Given the description of an element on the screen output the (x, y) to click on. 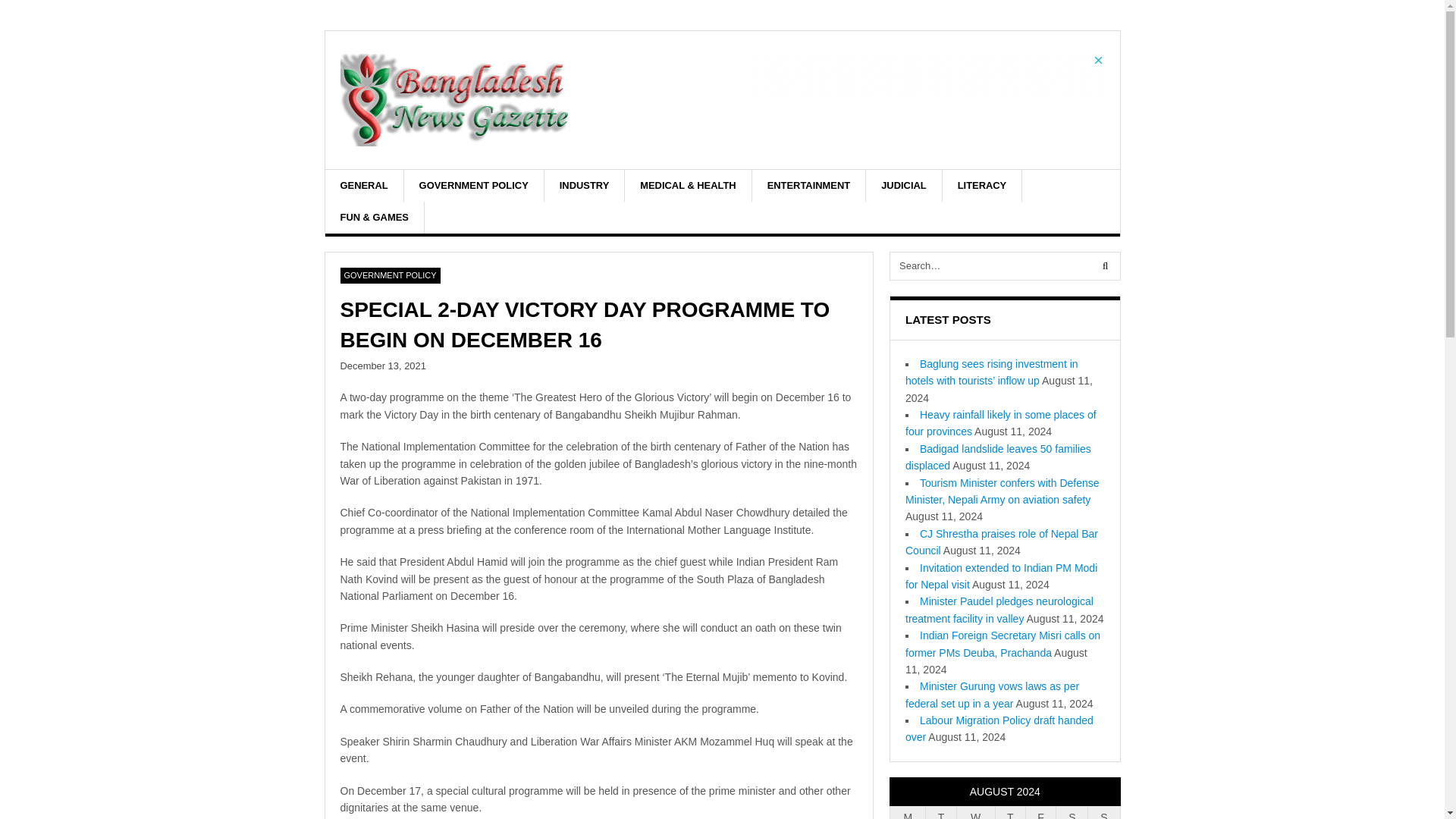
Heavy rainfall likely in some places of four provinces (1000, 422)
INDUSTRY (585, 185)
Monday (907, 812)
GENERAL (363, 185)
Government Policy (389, 275)
Minister Gurung vows laws as per federal set up in a year (991, 694)
Thursday (1009, 812)
GOVERNMENT POLICY (474, 185)
CJ Shrestha praises role of Nepal Bar Council (1001, 541)
